Given the description of an element on the screen output the (x, y) to click on. 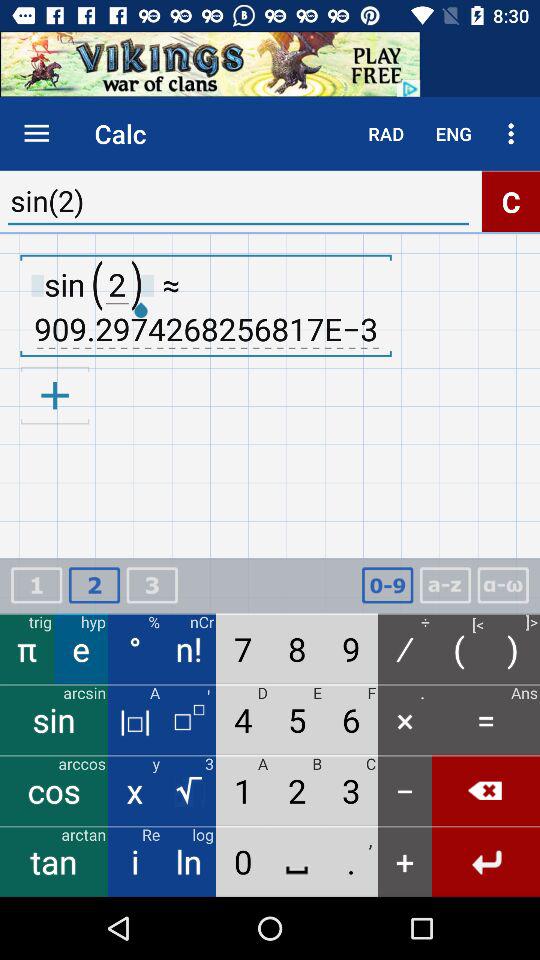
select symbols (503, 585)
